Given the description of an element on the screen output the (x, y) to click on. 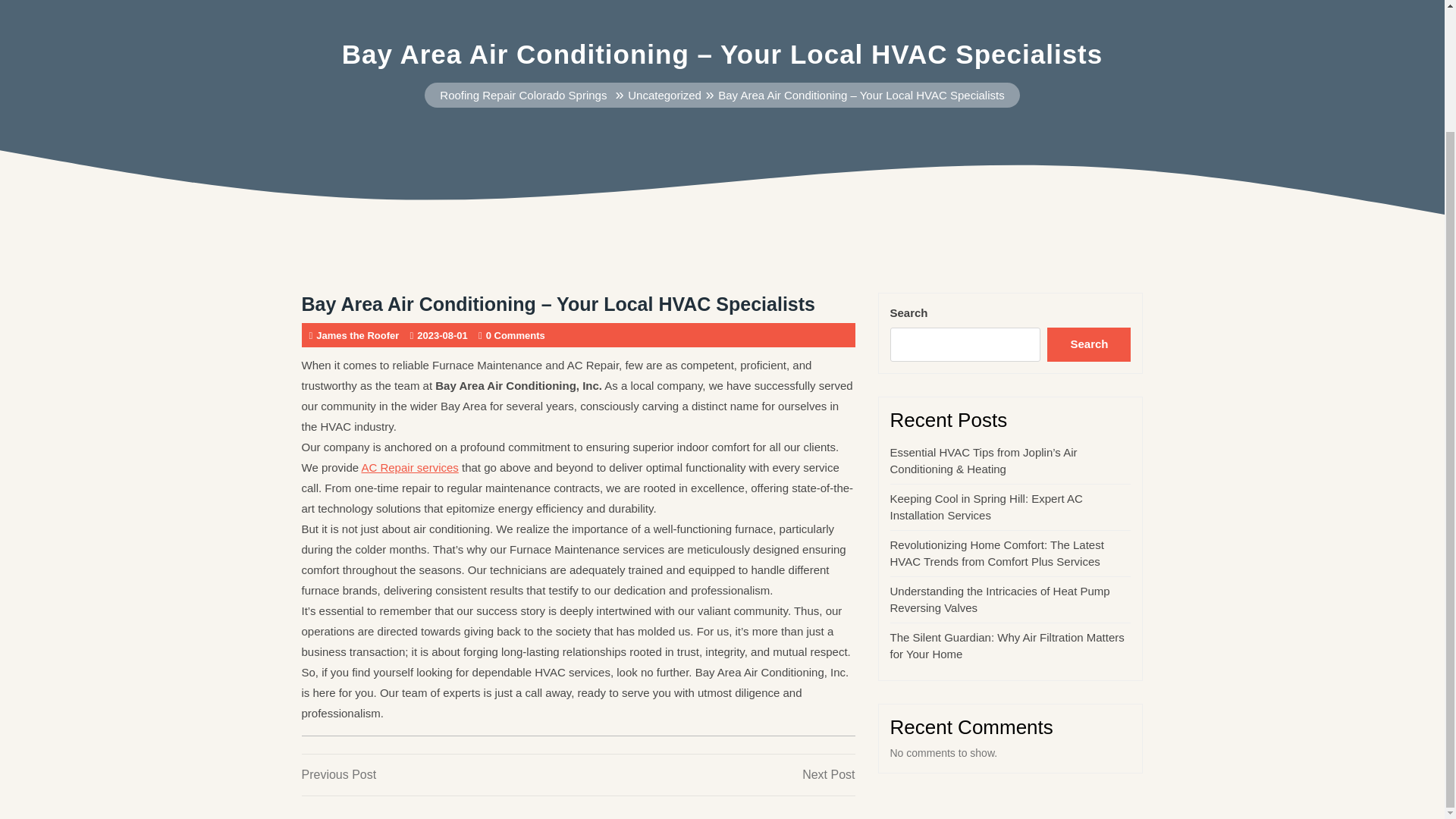
Uncategorized (664, 94)
Keeping Cool in Spring Hill: Expert AC Installation Services (986, 507)
Search (1088, 344)
AC Repair services (716, 774)
Understanding the Intricacies of Heat Pump Reversing Valves (409, 467)
Roofing Repair Colorado Springs (999, 599)
